Given the description of an element on the screen output the (x, y) to click on. 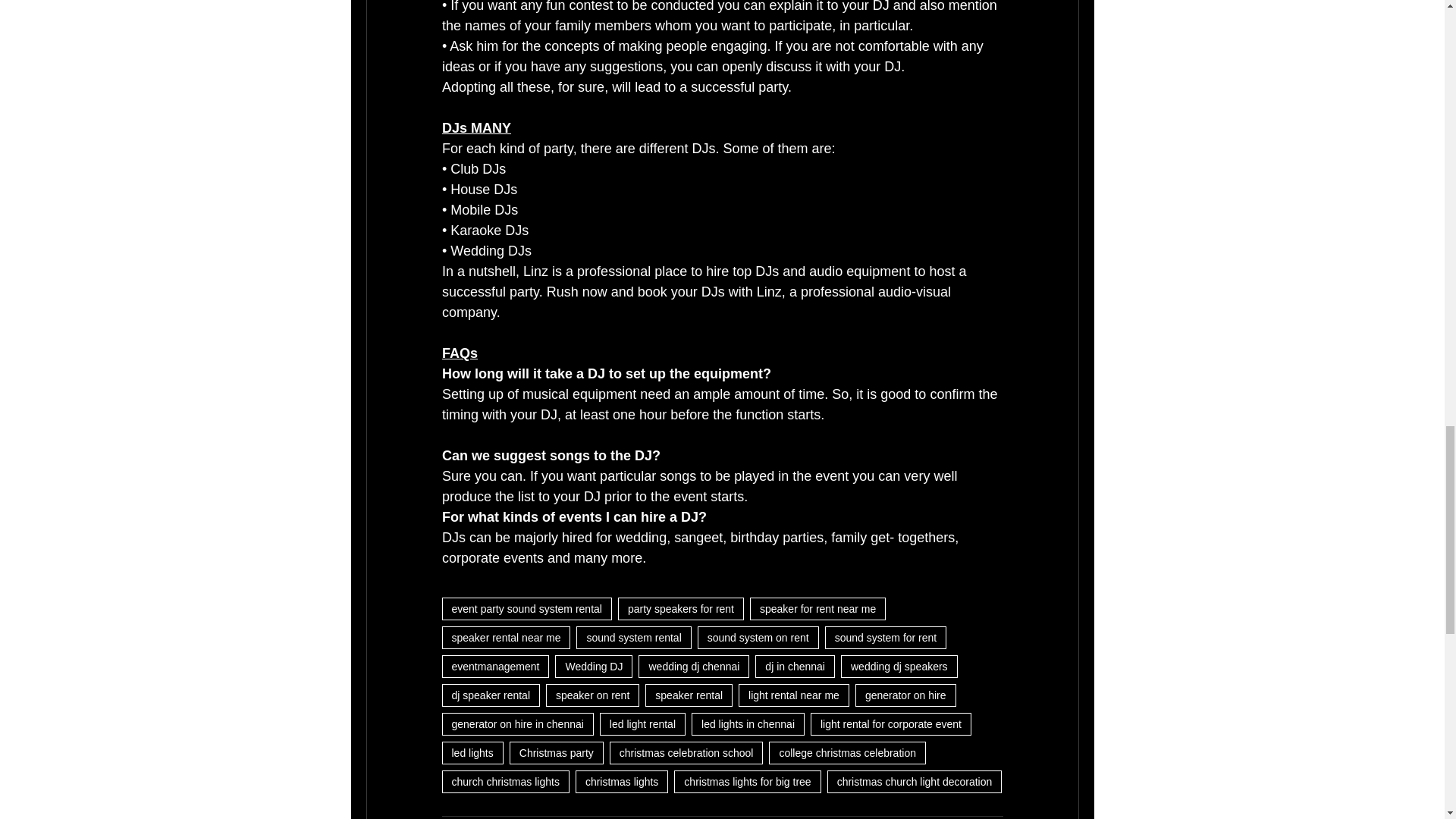
Wedding DJ (592, 666)
speaker for rent near me (817, 608)
wedding dj chennai (694, 666)
event party sound system rental (526, 608)
wedding dj speakers (899, 666)
eventmanagement (494, 666)
dj in chennai (794, 666)
party speakers for rent (680, 608)
sound system rental (633, 637)
sound system on rent (757, 637)
sound system for rent (886, 637)
speaker rental near me (505, 637)
